Given the description of an element on the screen output the (x, y) to click on. 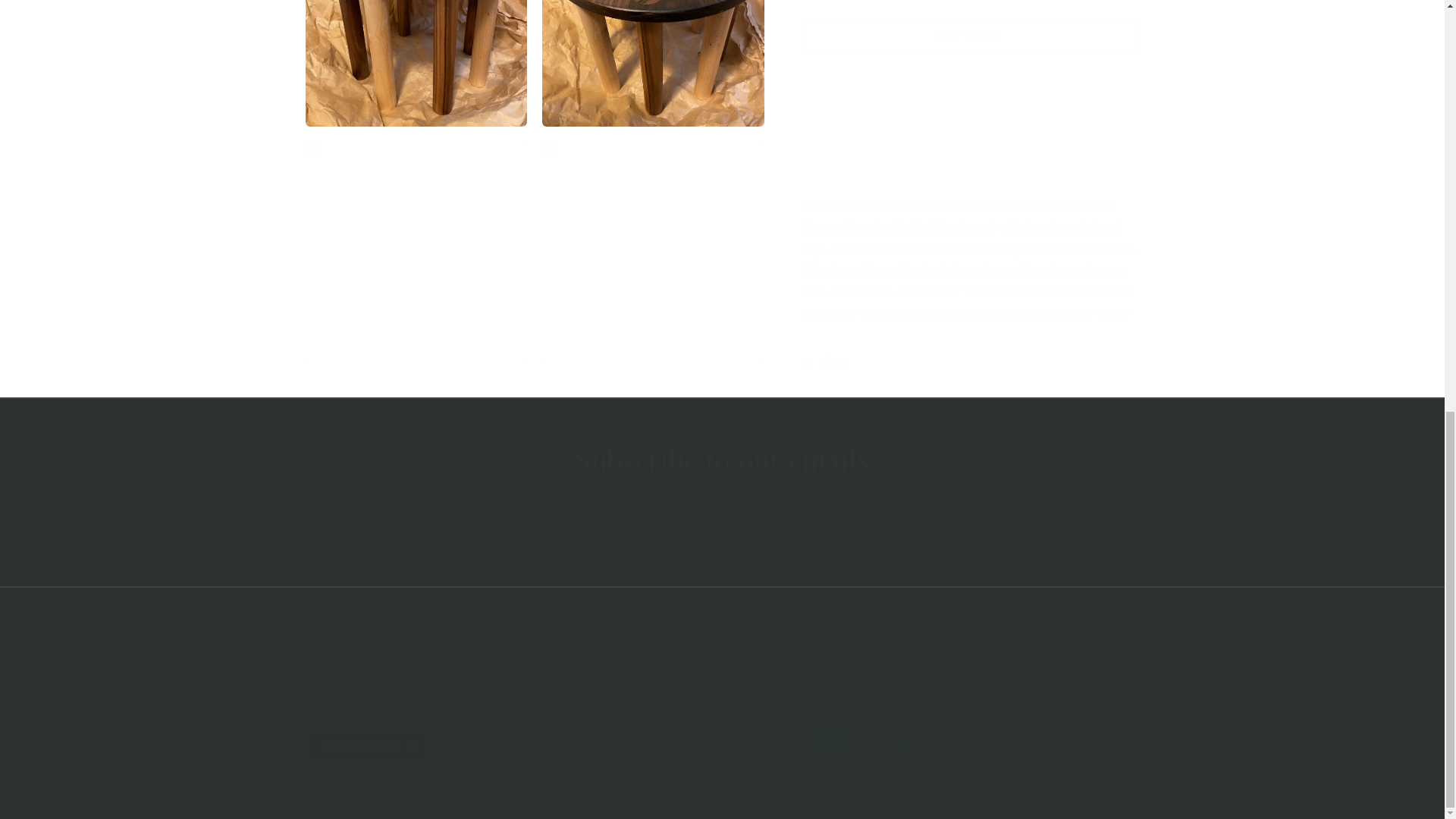
Email (722, 550)
Open media 3 in modal (652, 56)
Open media 2 in modal (415, 56)
Subscribe to our emails (721, 460)
Open media 4 in modal (415, 237)
Open media 5 in modal (652, 237)
